Given the description of an element on the screen output the (x, y) to click on. 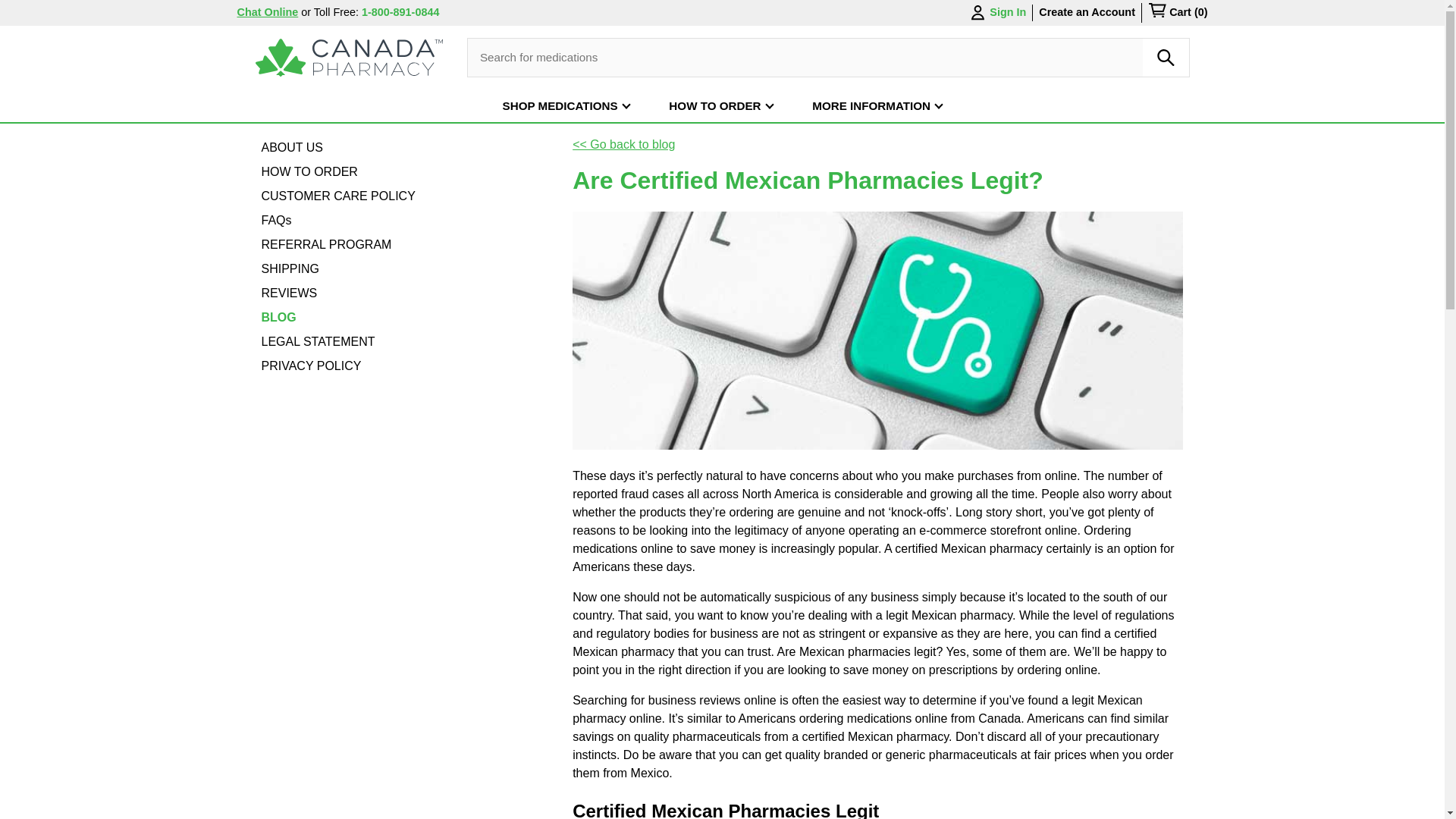
REFERRAL PROGRAM (325, 244)
HOW TO ORDER (308, 171)
Toll Free: 1-800-891-0844 (376, 11)
CUSTOMER CARE POLICY (337, 196)
SHIPPING (289, 269)
Sign In (997, 12)
PRIVACY POLICY (310, 366)
LEGAL STATEMENT (317, 341)
REVIEWS (288, 293)
ABOUT US (291, 147)
